Given the description of an element on the screen output the (x, y) to click on. 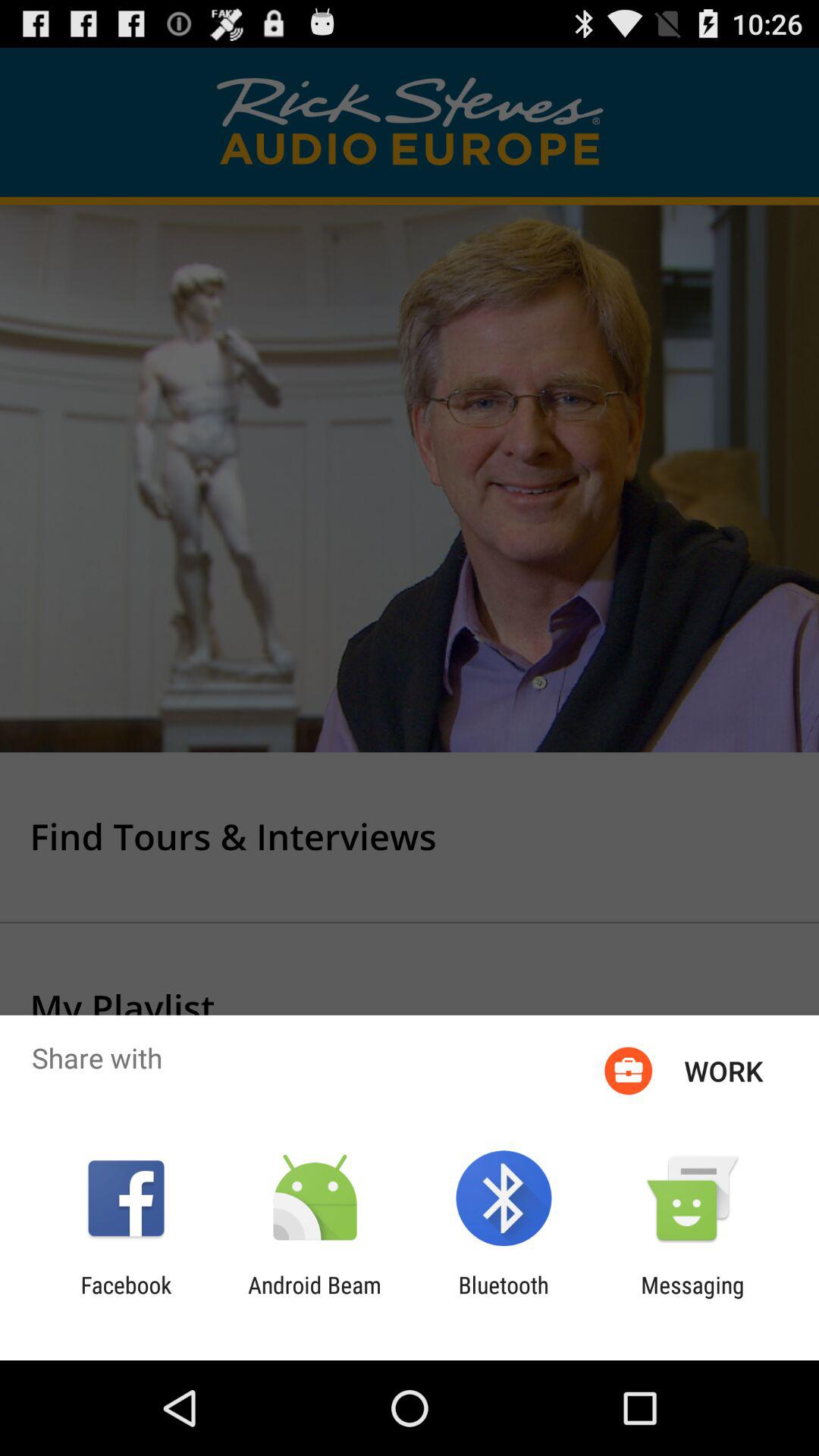
tap the app next to the bluetooth icon (692, 1298)
